Given the description of an element on the screen output the (x, y) to click on. 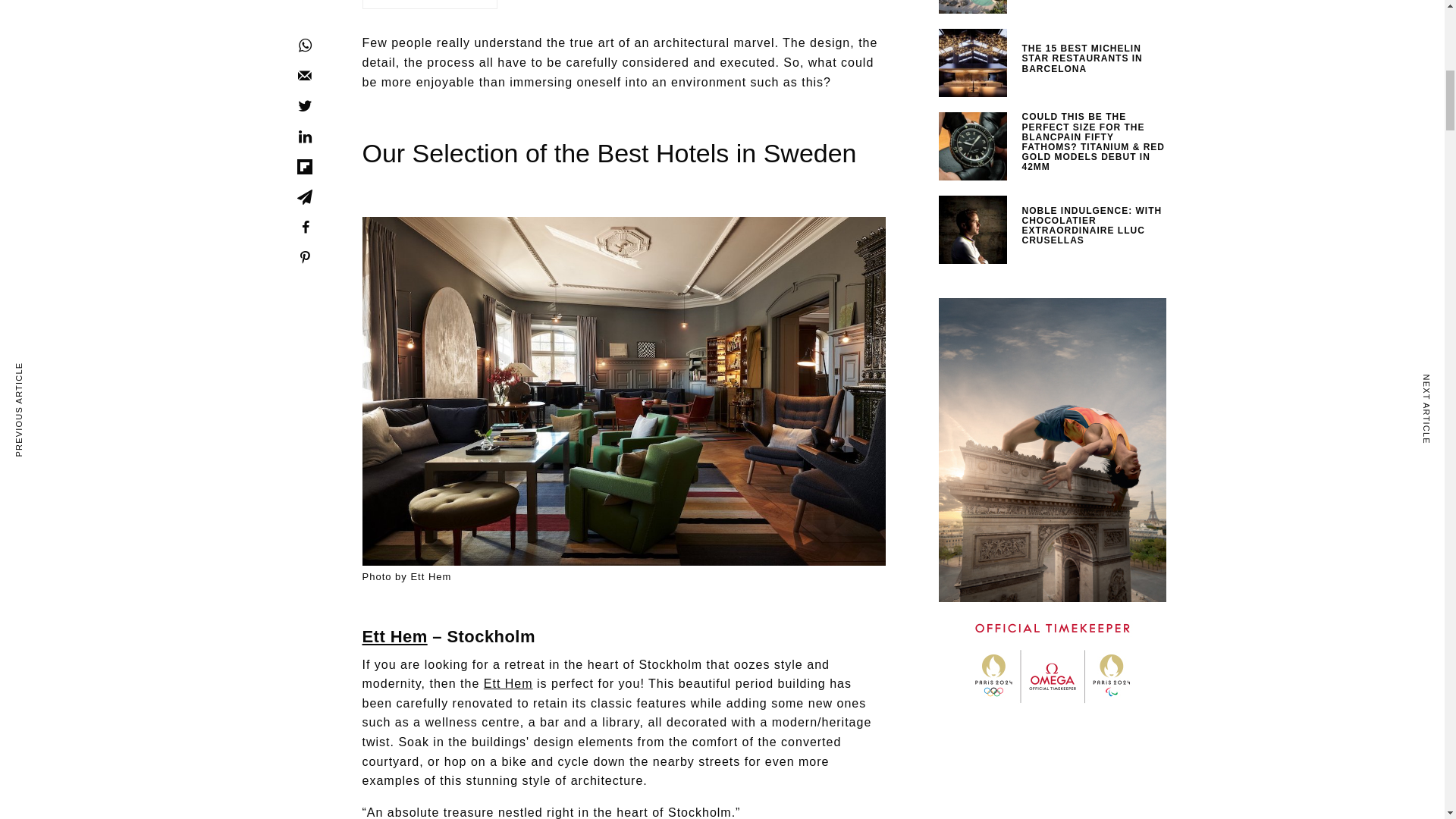
Ett Hem (395, 636)
The 15 best Michelin star restaurants in Barcelona (1094, 59)
Ett Hem (507, 683)
